Given the description of an element on the screen output the (x, y) to click on. 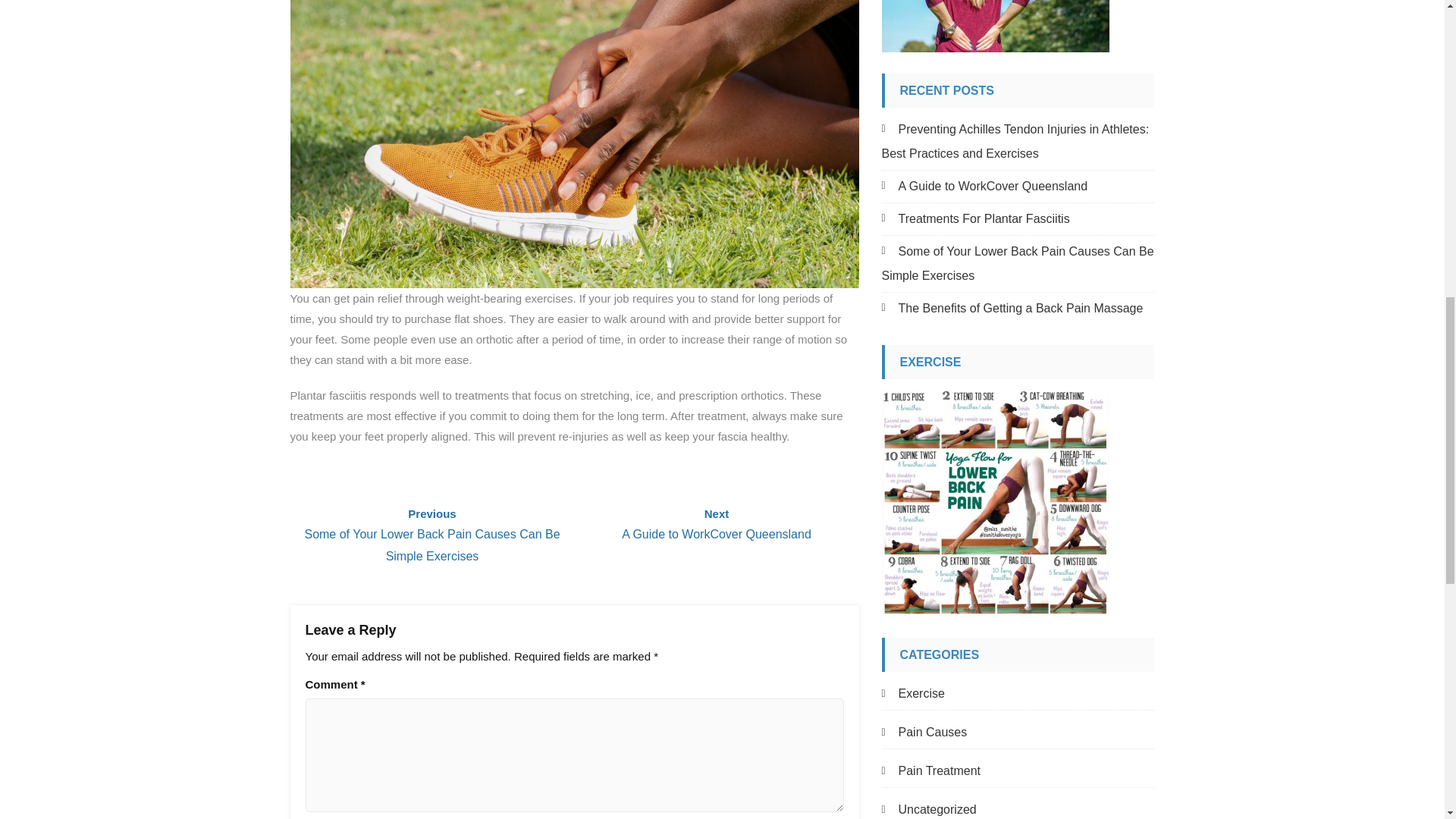
The Benefits of Getting a Back Pain Massage (1011, 308)
Uncategorized (927, 808)
A Guide to WorkCover Queensland (983, 185)
Pain Causes (923, 732)
Treatments For Plantar Fasciitis (974, 218)
Some of Your Lower Back Pain Causes Can Be Simple Exercises (716, 524)
Exercise (1016, 262)
